Given the description of an element on the screen output the (x, y) to click on. 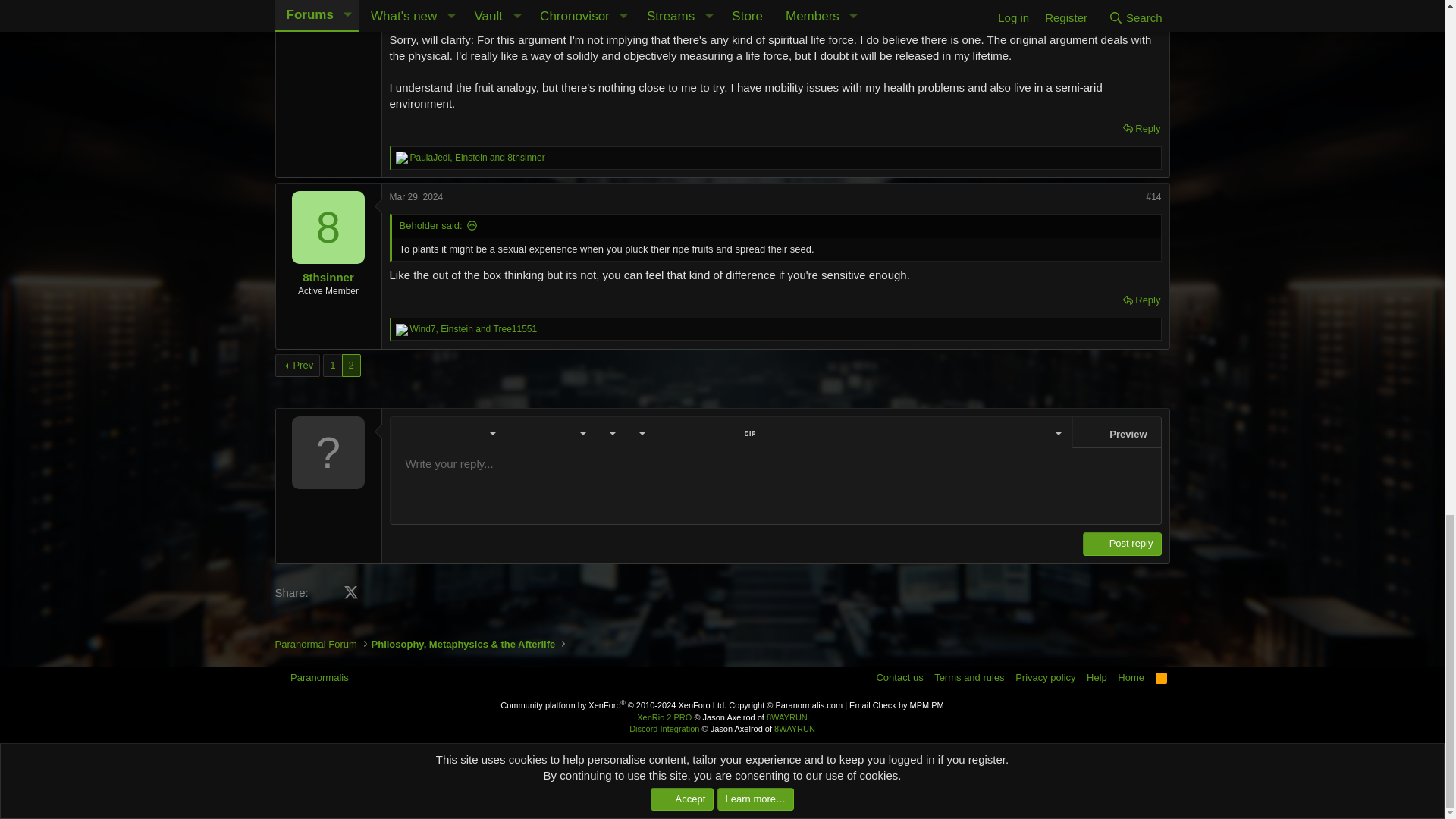
Like (401, 157)
Reply, quoting this message (1141, 128)
Mar 29, 2024 at 10:15 PM (417, 196)
Reply, quoting this message (1141, 300)
Like (401, 329)
